Given the description of an element on the screen output the (x, y) to click on. 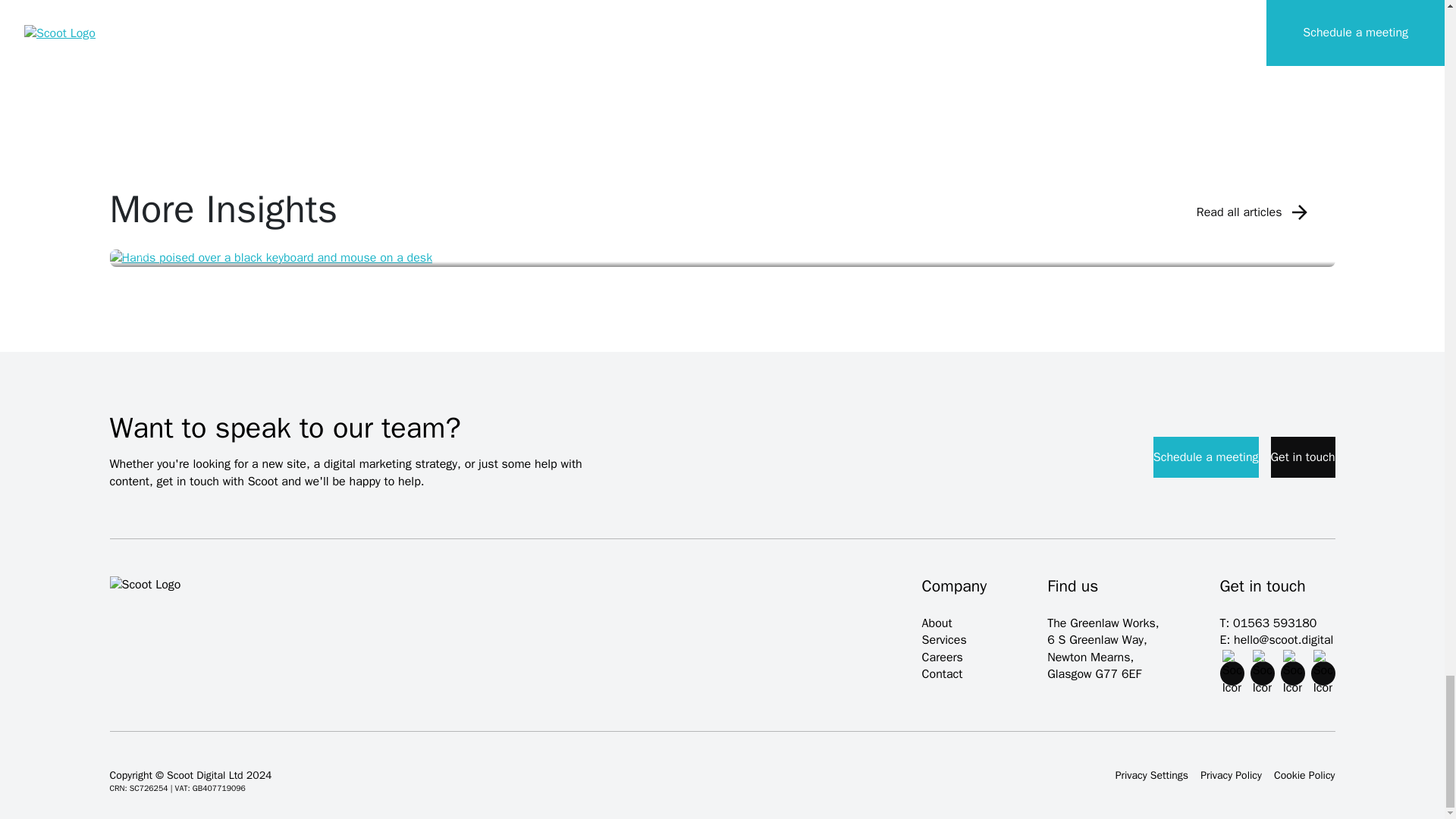
Schedule a meeting (1206, 456)
Cookie Policy (1304, 775)
Careers (941, 657)
Read all articles (1253, 212)
Get in touch (1303, 456)
Insight (722, 257)
Privacy Policy (1230, 775)
Privacy Settings (1151, 775)
T: 01563 593180 (1277, 623)
Contact (941, 673)
Services (943, 639)
About (936, 622)
